Given the description of an element on the screen output the (x, y) to click on. 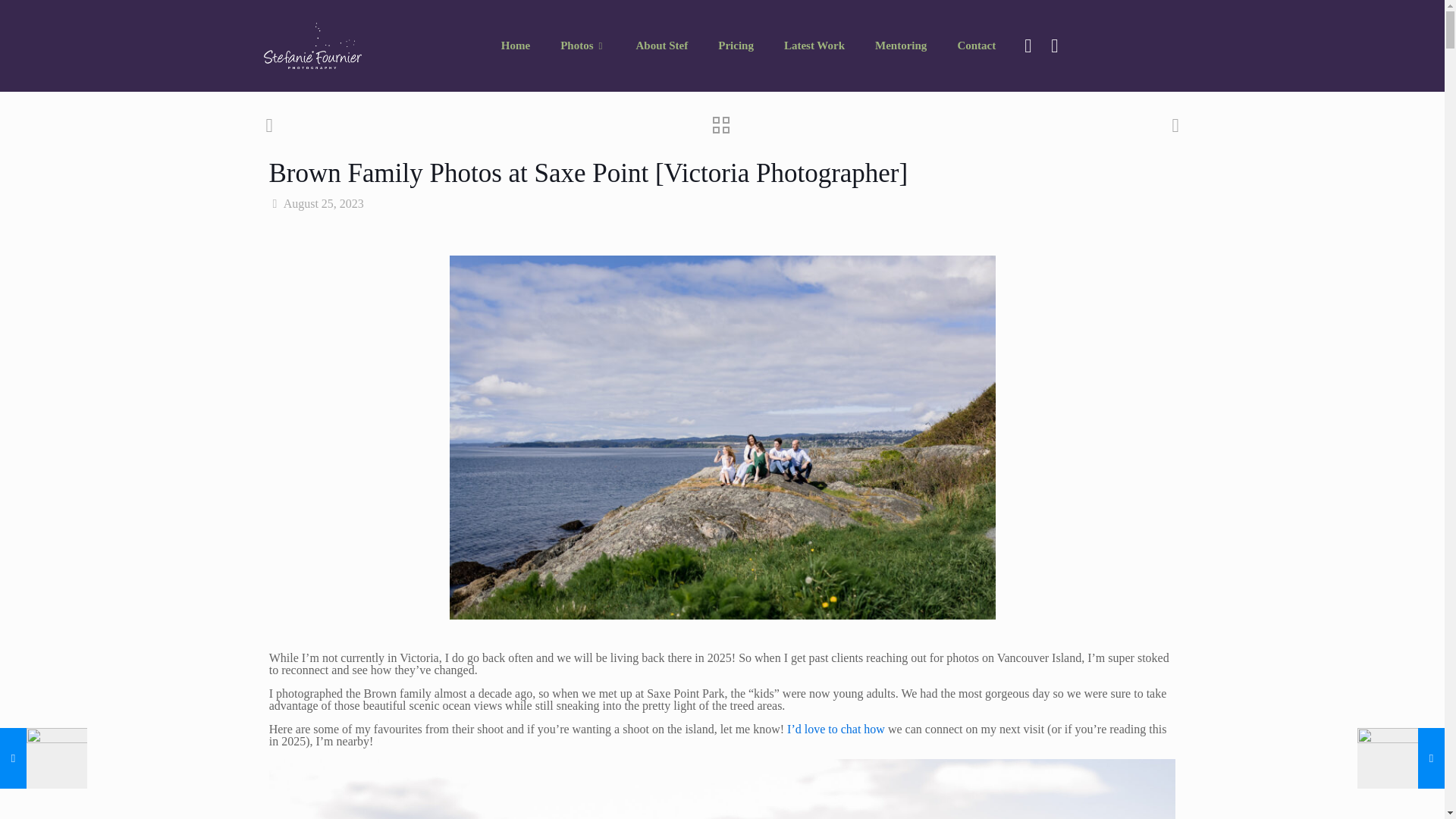
Latest Work (814, 45)
Photos (582, 45)
About Stef (661, 45)
Mentoring (901, 45)
Facebook (1026, 45)
Instagram (1054, 45)
Pricing (735, 45)
Contact (976, 45)
Home (515, 45)
